Given the description of an element on the screen output the (x, y) to click on. 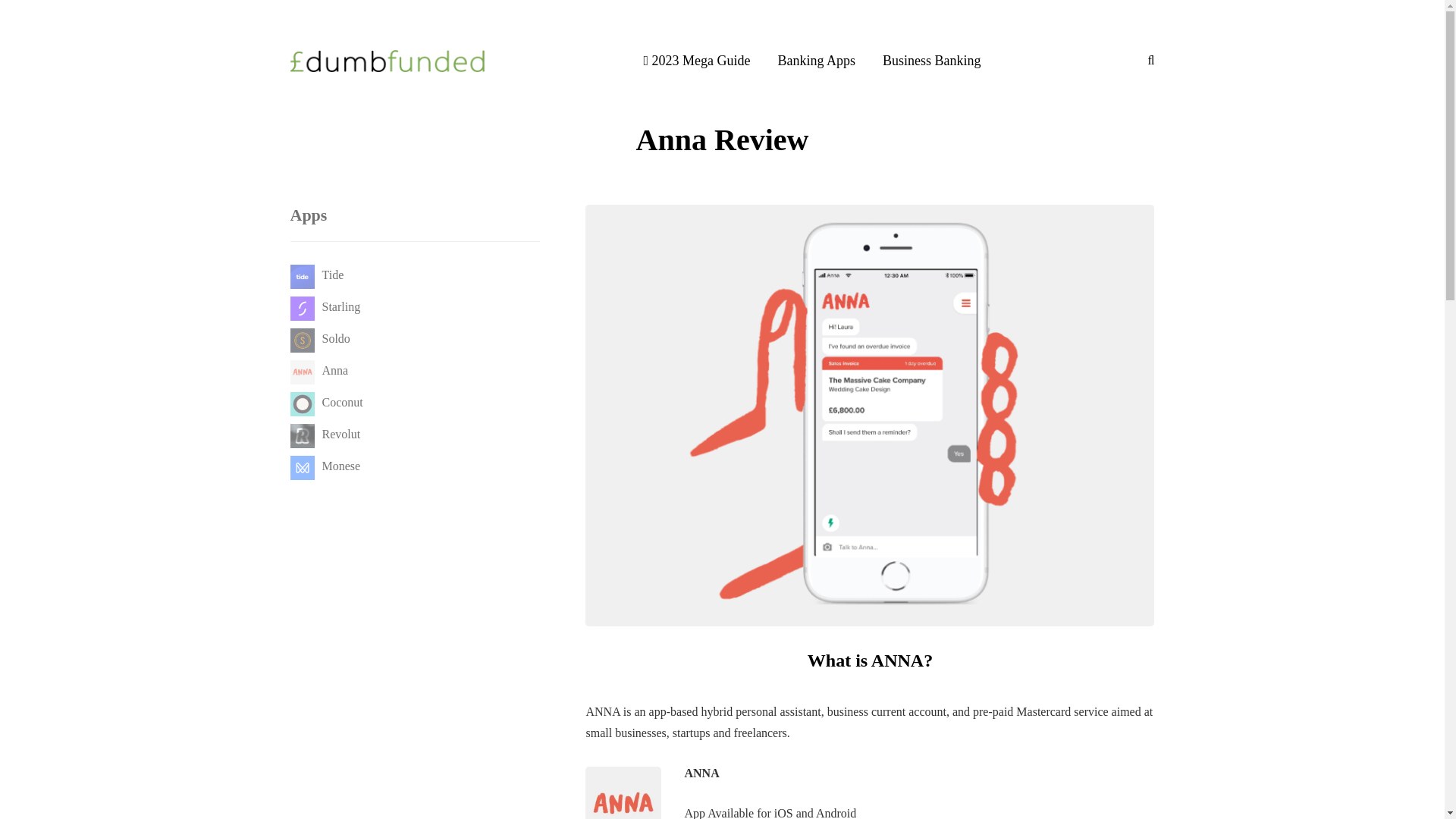
Anna (318, 369)
Tide (316, 274)
Soldo (319, 338)
Business Banking (931, 60)
Starling (324, 306)
Revolut (324, 433)
Monese (324, 465)
Banking Apps (816, 60)
Coconut (325, 401)
Search (43, 15)
